Given the description of an element on the screen output the (x, y) to click on. 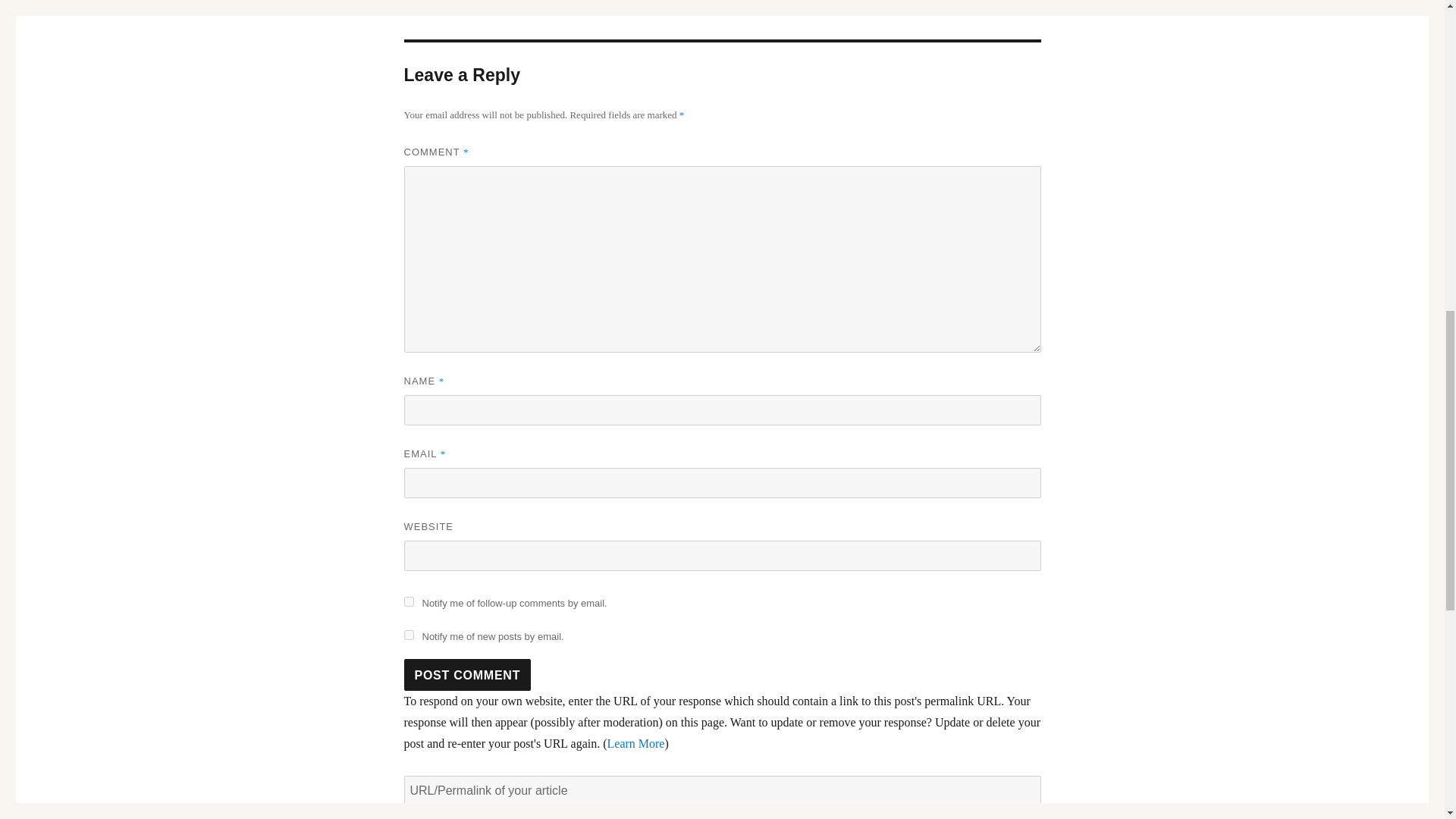
subscribe (408, 634)
Learn More (635, 743)
Post Comment (467, 675)
Post Comment (467, 675)
subscribe (408, 601)
